Given the description of an element on the screen output the (x, y) to click on. 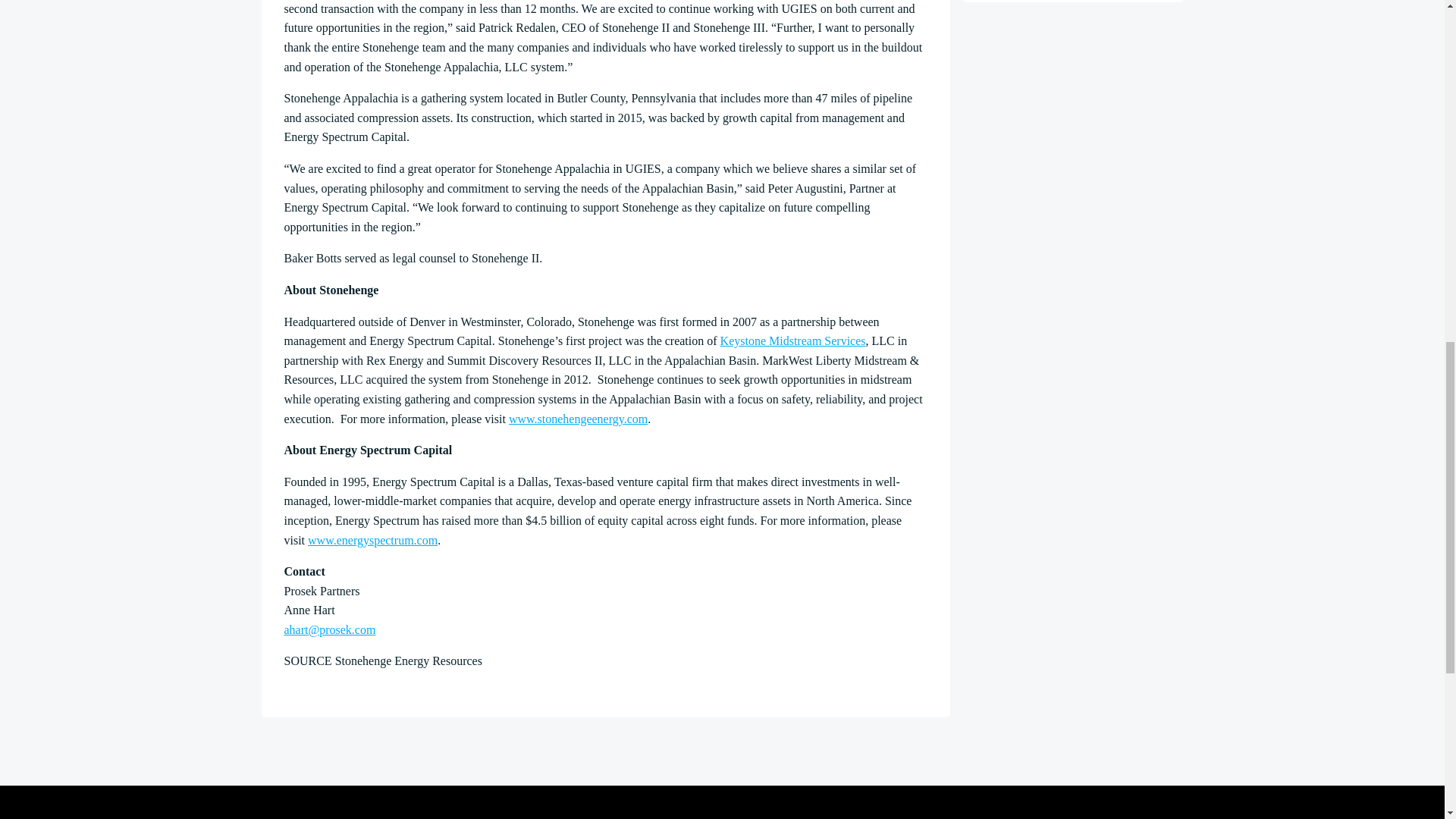
www.stonehengeenergy.com (577, 418)
Keystone Midstream Services (793, 340)
www.energyspectrum.com (372, 540)
